Given the description of an element on the screen output the (x, y) to click on. 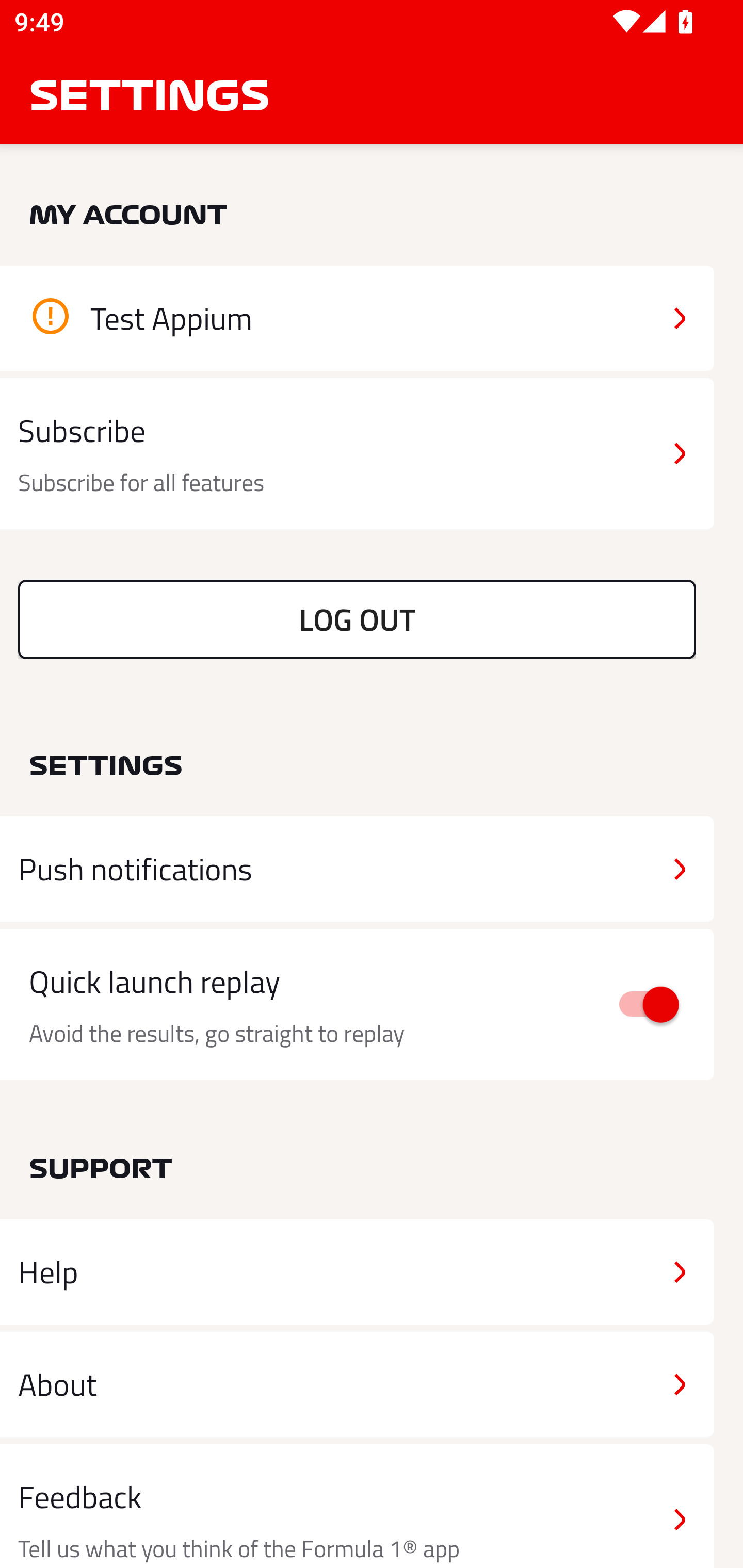
Test Appium (357, 317)
Subscribe Subscribe for all features (357, 453)
LOG OUT (356, 619)
Push notifications (357, 868)
Help (357, 1271)
About (357, 1383)
